Given the description of an element on the screen output the (x, y) to click on. 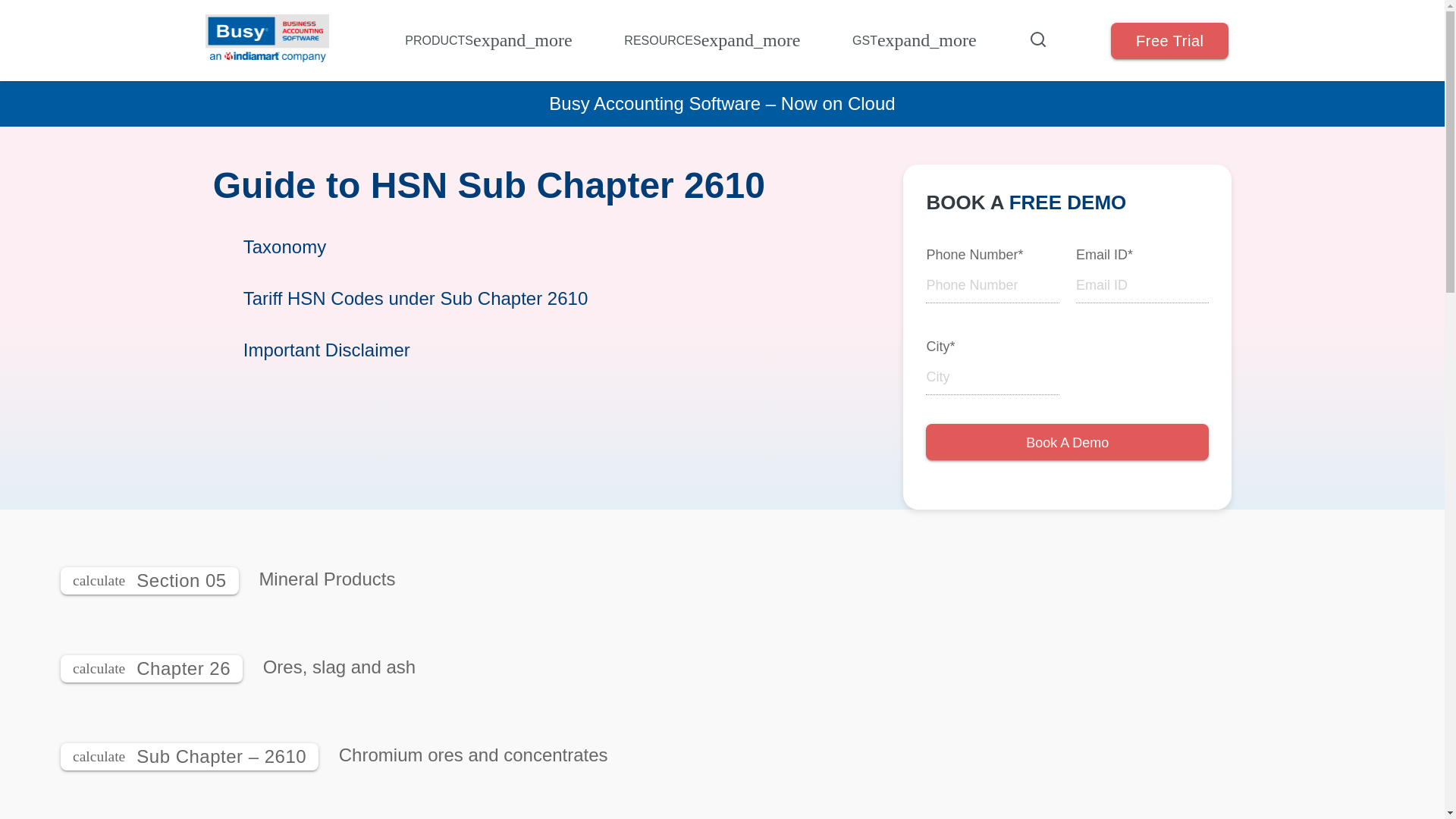
Book A Demo (1066, 443)
Busy Logo (267, 40)
